Given the description of an element on the screen output the (x, y) to click on. 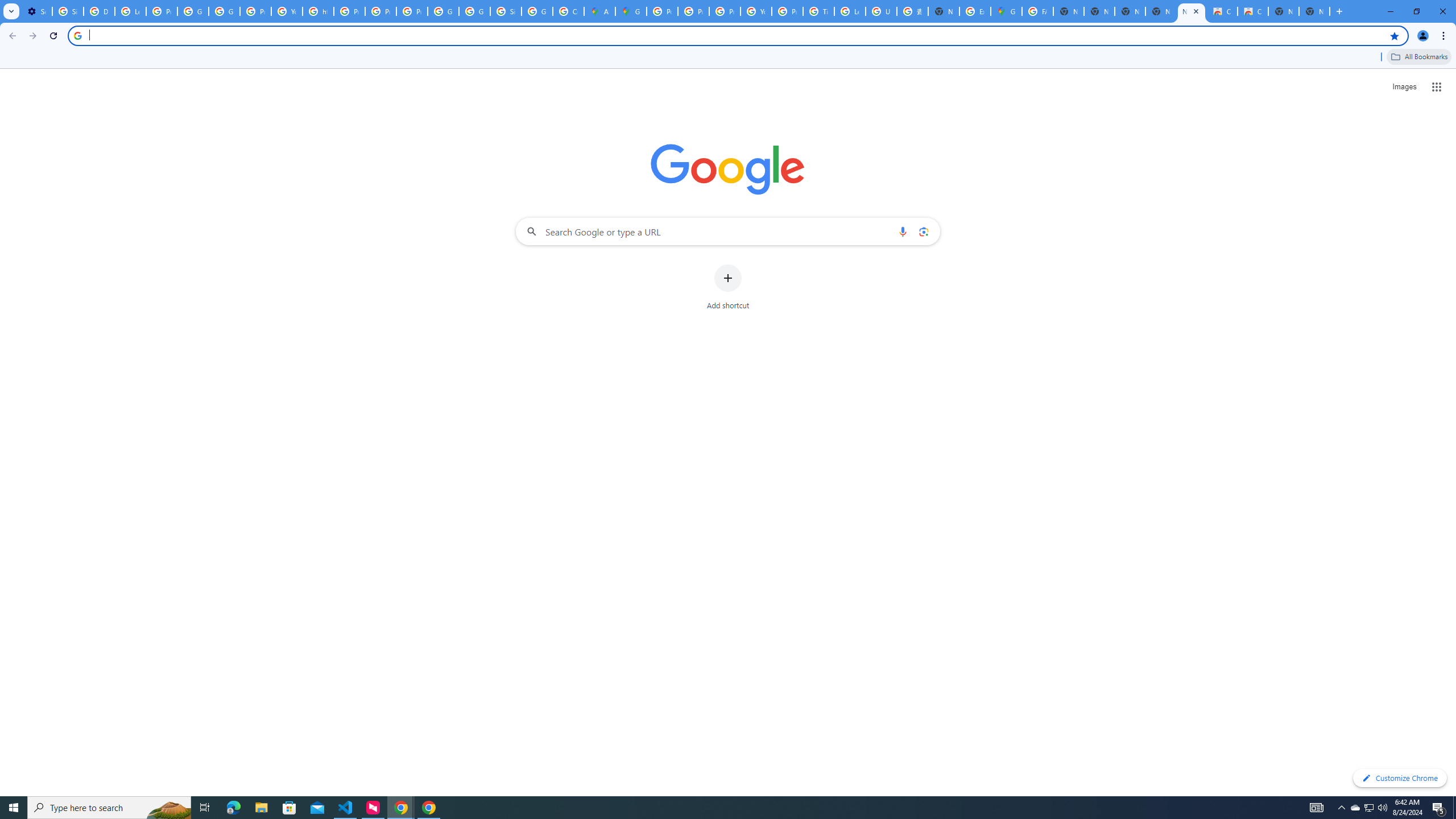
Explore new street-level details - Google Maps Help (974, 11)
Sign in - Google Accounts (505, 11)
